Given the description of an element on the screen output the (x, y) to click on. 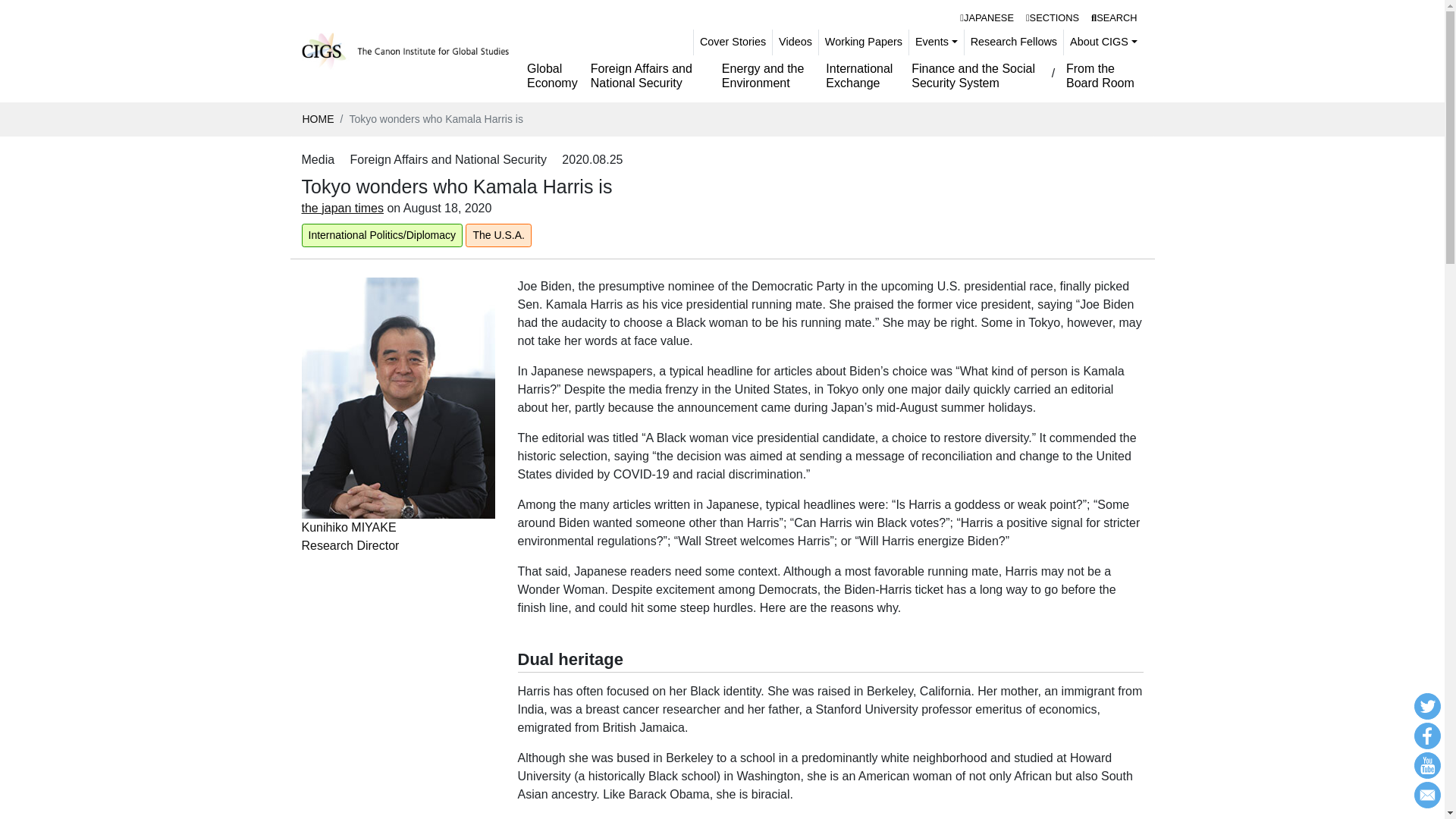
HOME (317, 119)
From the Board Room (1100, 75)
Global Economy (553, 75)
Cover Stories (732, 41)
JAPANESE (398, 472)
Energy and the Environment (986, 17)
International Exchange (767, 75)
Events (862, 75)
Research Fellows (935, 41)
